Given the description of an element on the screen output the (x, y) to click on. 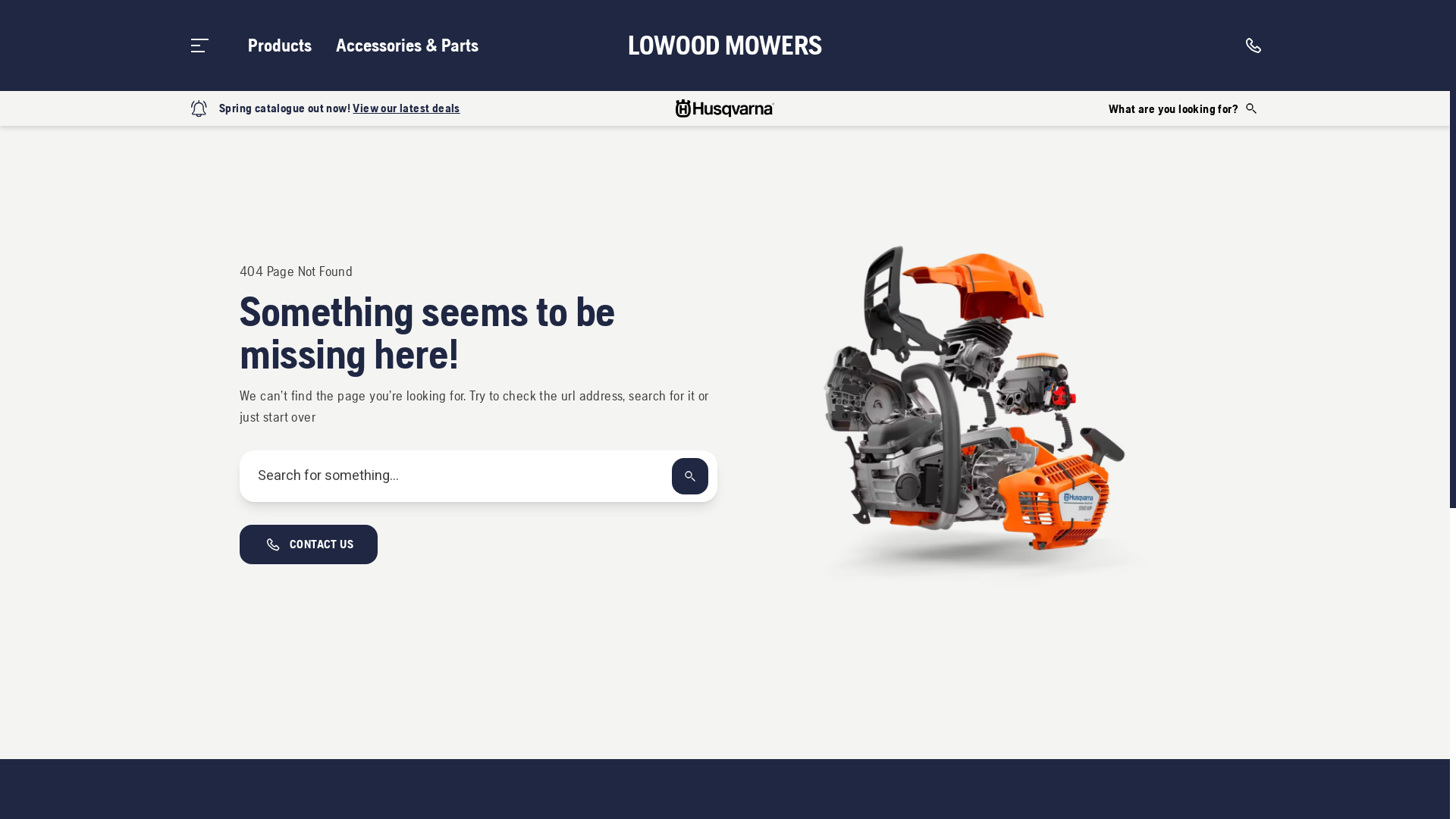
CONTACT US Element type: text (308, 544)
Products Element type: text (279, 45)
LOWOOD MOWERS Element type: text (724, 45)
View our latest deals Element type: text (405, 107)
SEARCH Element type: text (689, 476)
Accessories & Parts Element type: text (406, 45)
What are you looking for? Element type: text (1183, 108)
